Given the description of an element on the screen output the (x, y) to click on. 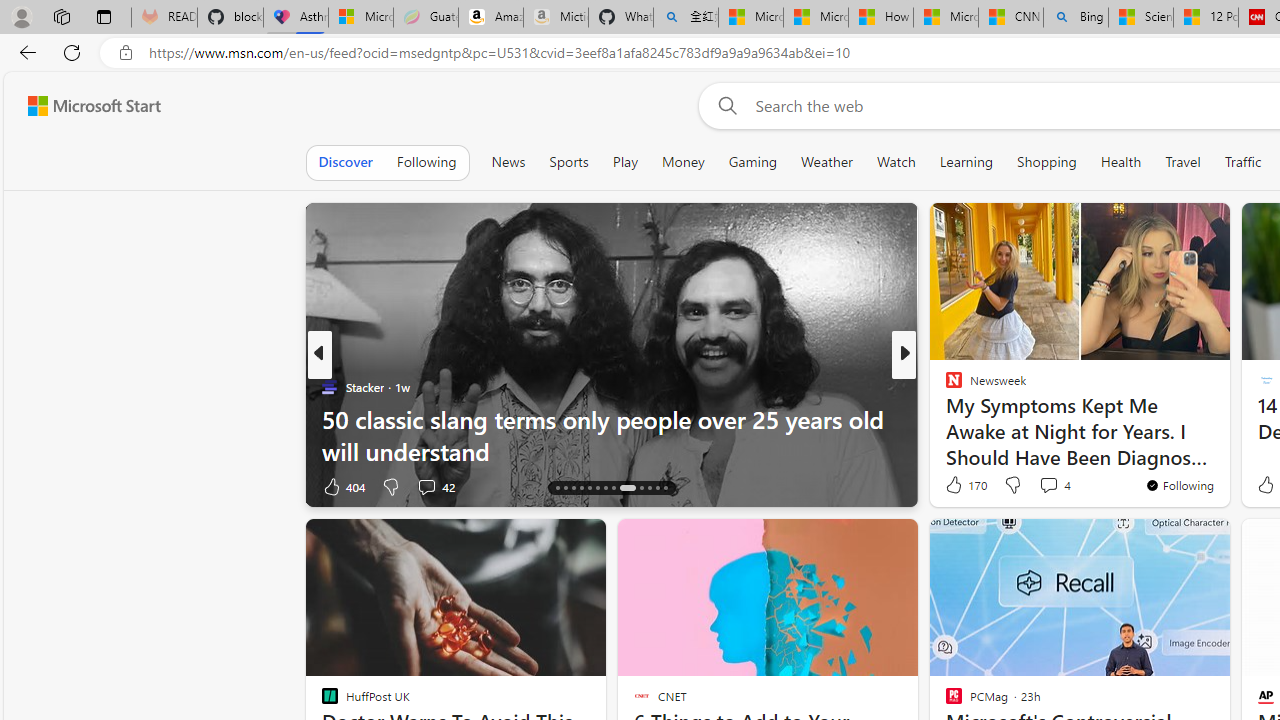
View comments 34 Comment (1051, 486)
AutomationID: tab-19 (596, 487)
Stacker (329, 386)
76 Like (956, 486)
